Given the description of an element on the screen output the (x, y) to click on. 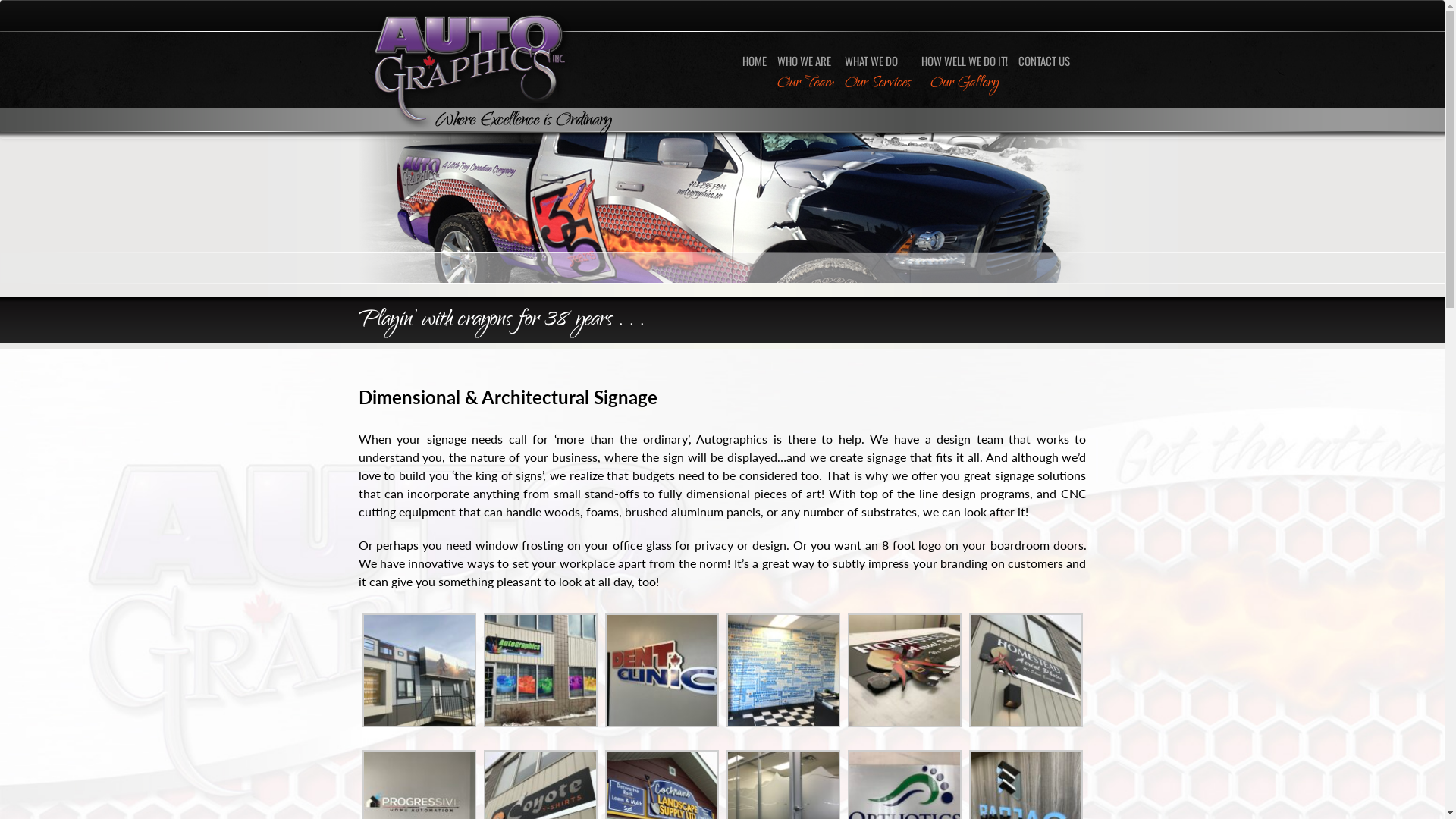
WHO WE ARE
Our Team Element type: text (805, 72)
HOME Element type: text (754, 60)
CONTACT US Element type: text (1044, 60)
WHAT WE DO
Our Services Element type: text (876, 72)
HOW WELL WE DO IT!
Our Gallery Element type: text (964, 72)
